Given the description of an element on the screen output the (x, y) to click on. 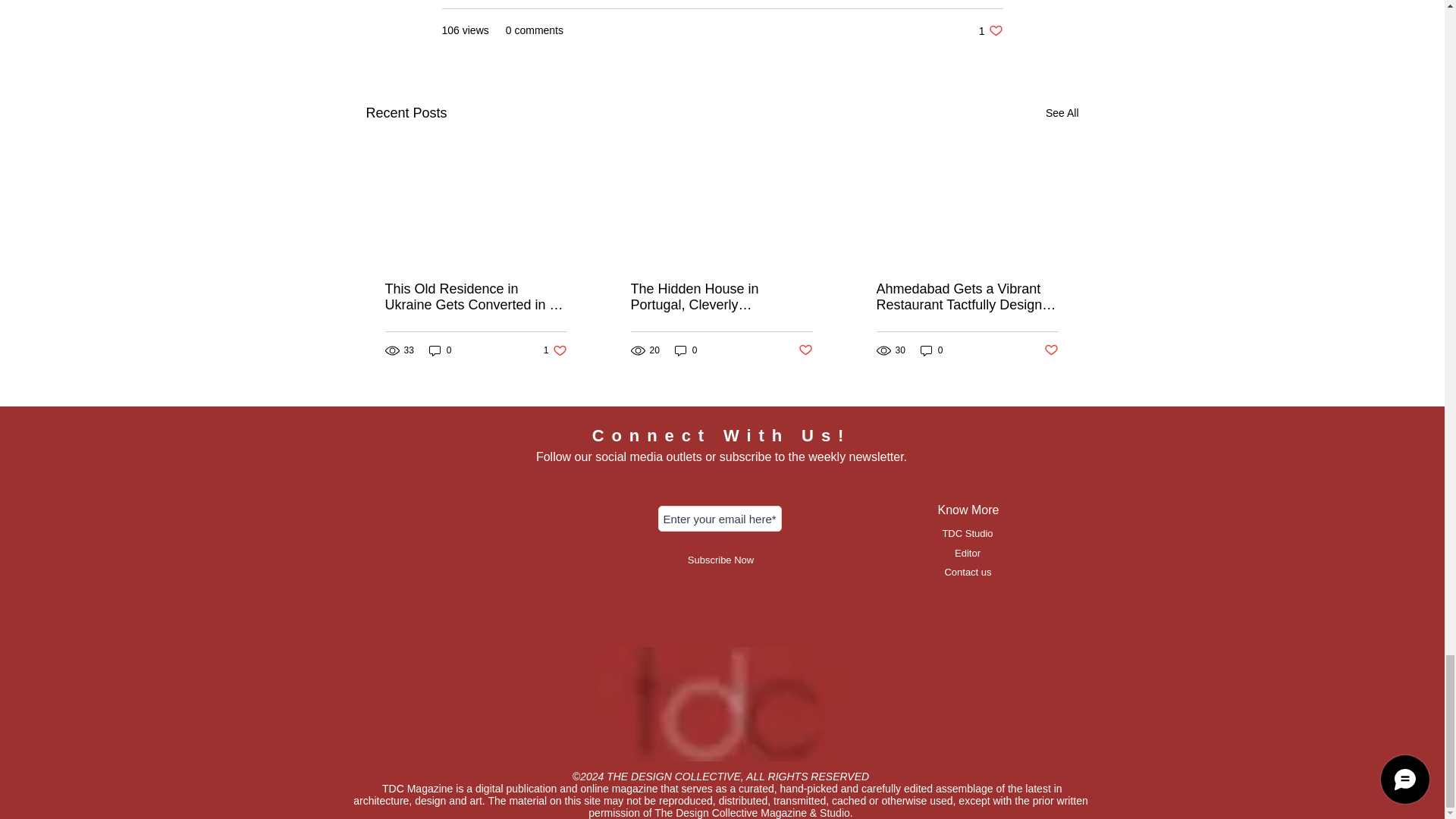
0 (440, 350)
See All (990, 30)
0 (1061, 113)
